Given the description of an element on the screen output the (x, y) to click on. 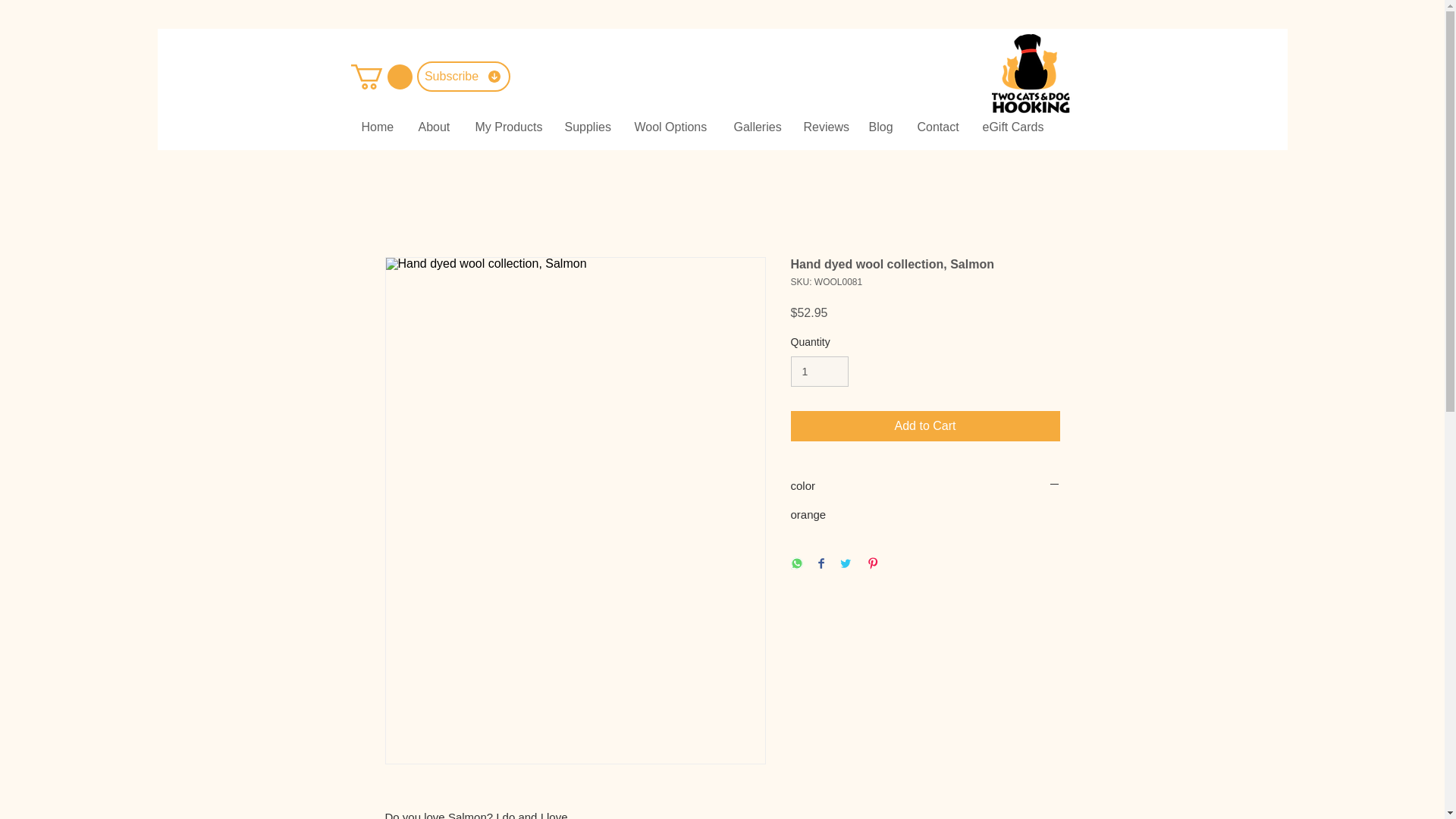
Reviews (824, 127)
Blog (881, 127)
Subscribe (463, 76)
1 (818, 371)
Wool Options (672, 127)
color (924, 485)
eGift Cards (1012, 127)
Home (378, 127)
Galleries (757, 127)
Supplies (588, 127)
About (434, 127)
Add to Cart (924, 426)
Contact (938, 127)
My Products (508, 127)
